Given the description of an element on the screen output the (x, y) to click on. 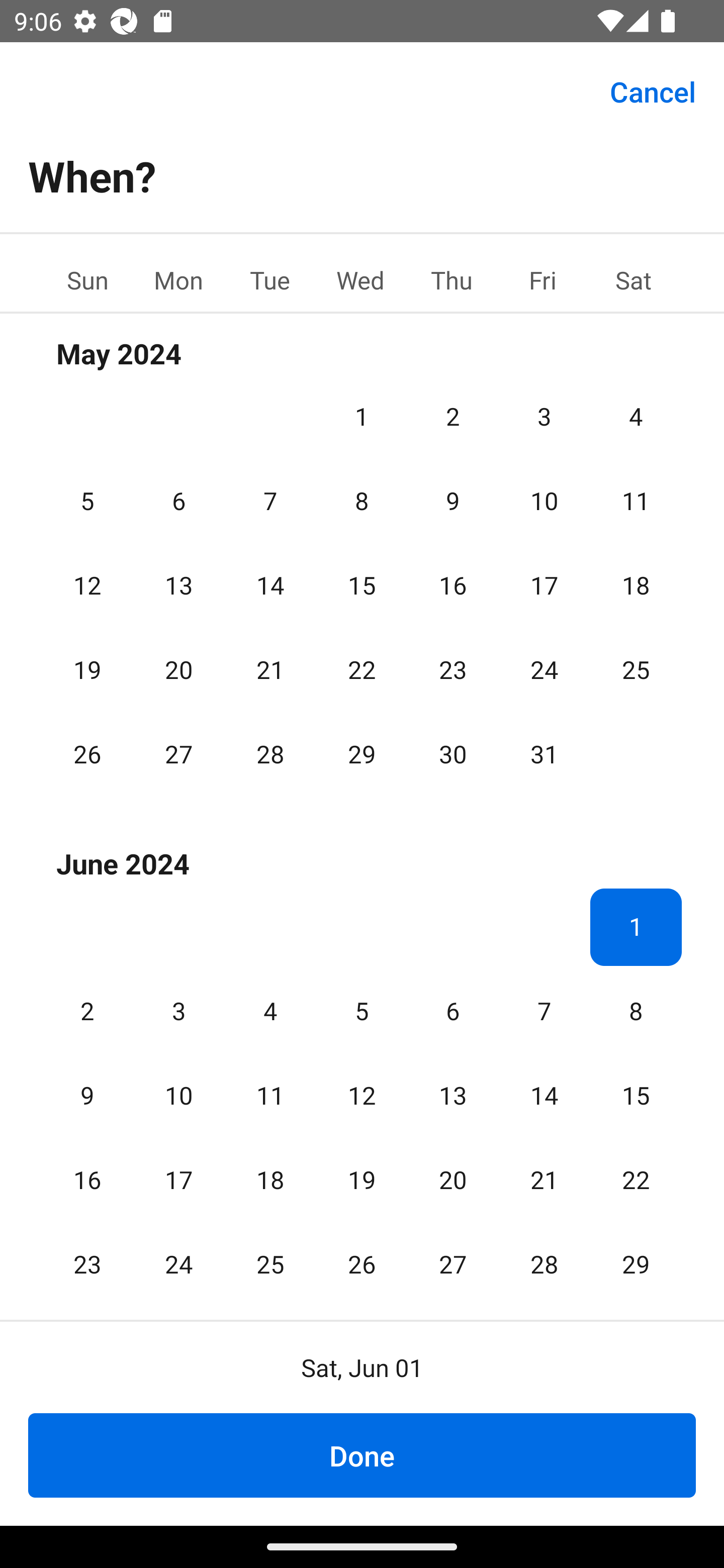
Cancel (652, 90)
Done (361, 1454)
